Given the description of an element on the screen output the (x, y) to click on. 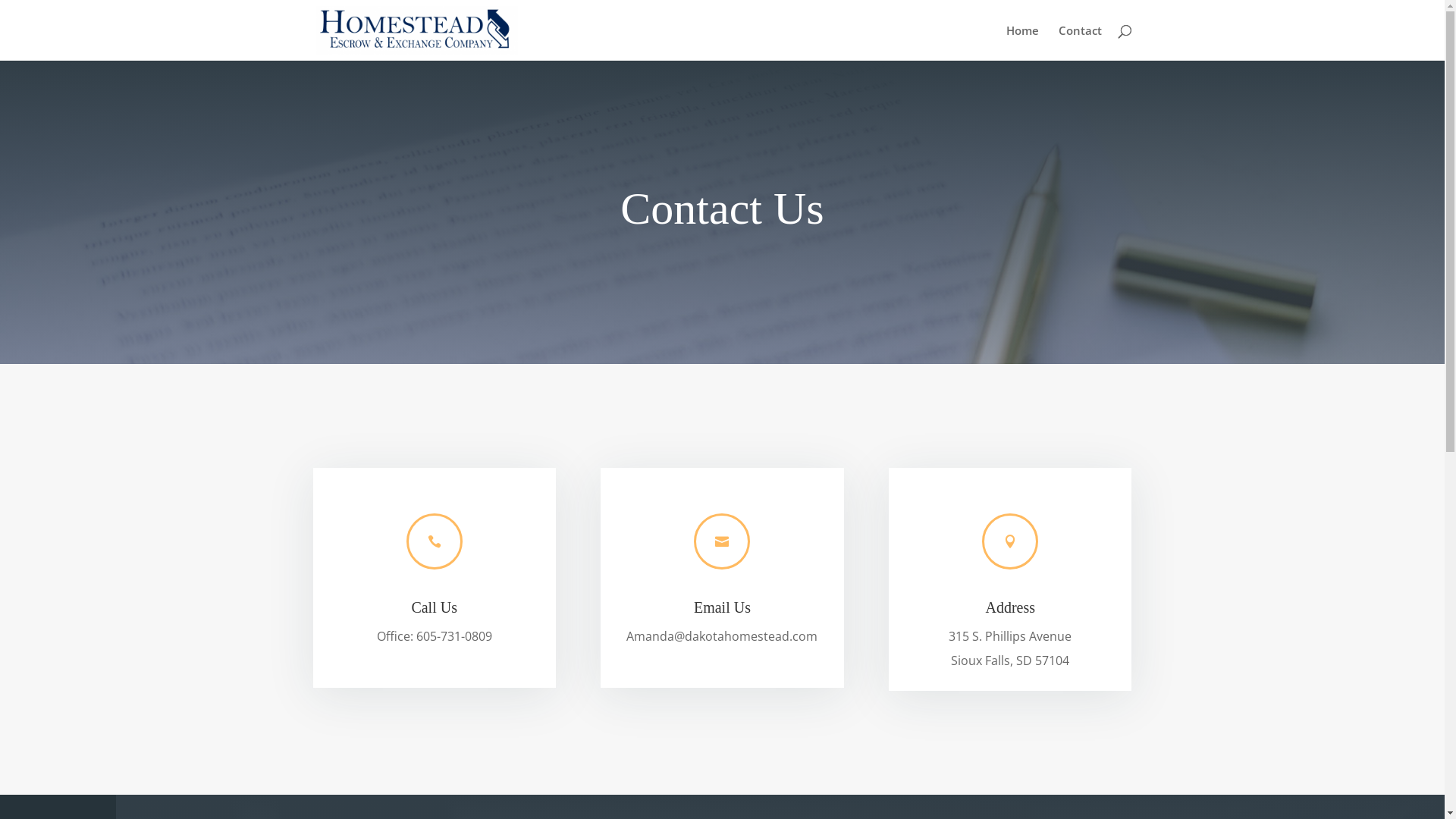
Contact Element type: text (1079, 42)
Home Element type: text (1021, 42)
